Given the description of an element on the screen output the (x, y) to click on. 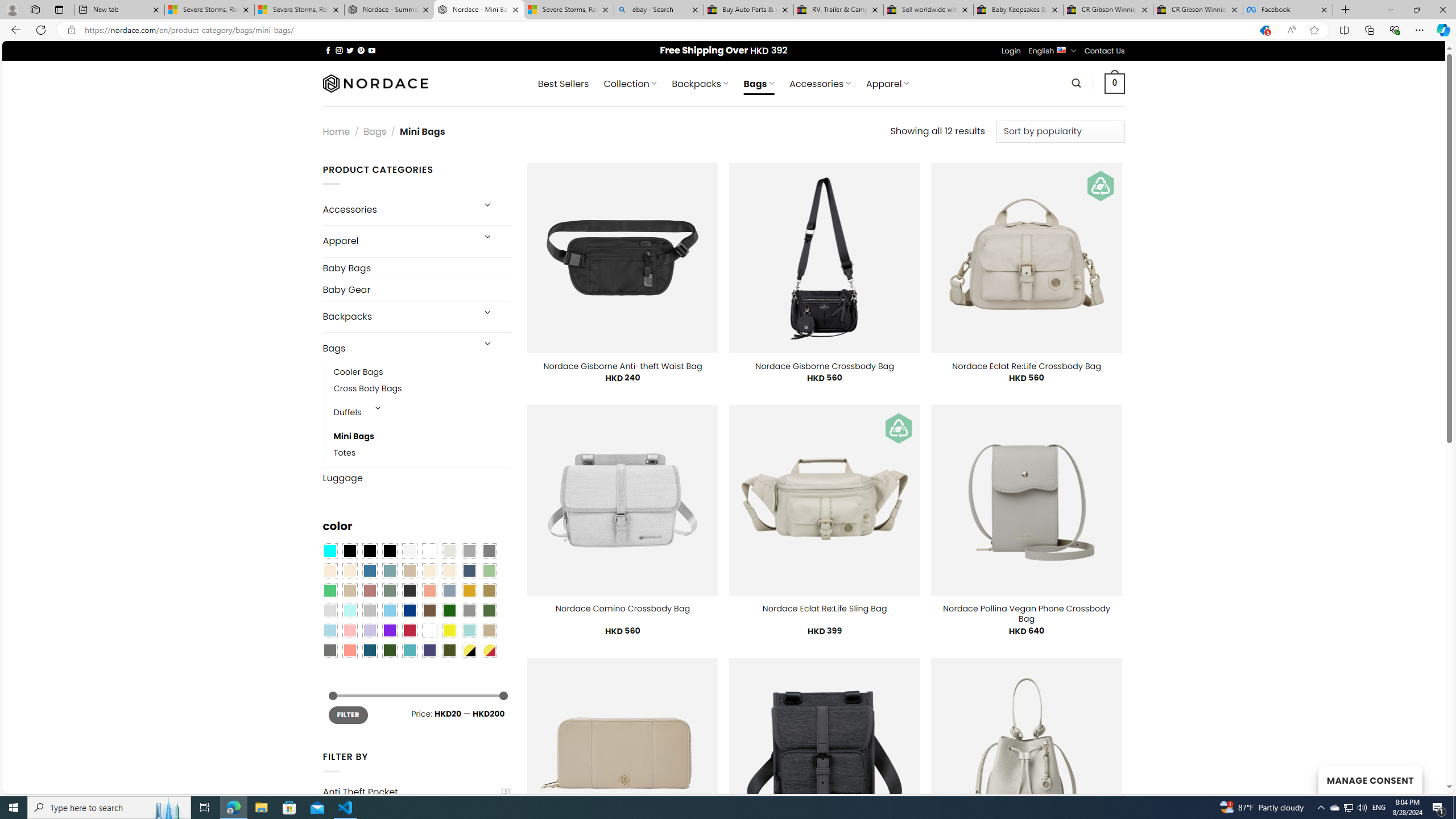
Forest (389, 649)
Backpacks (397, 316)
Khaki (488, 630)
Yellow-Black (468, 649)
Dark Gray (468, 550)
Dark Green (449, 610)
Dull Nickle (329, 649)
